Given the description of an element on the screen output the (x, y) to click on. 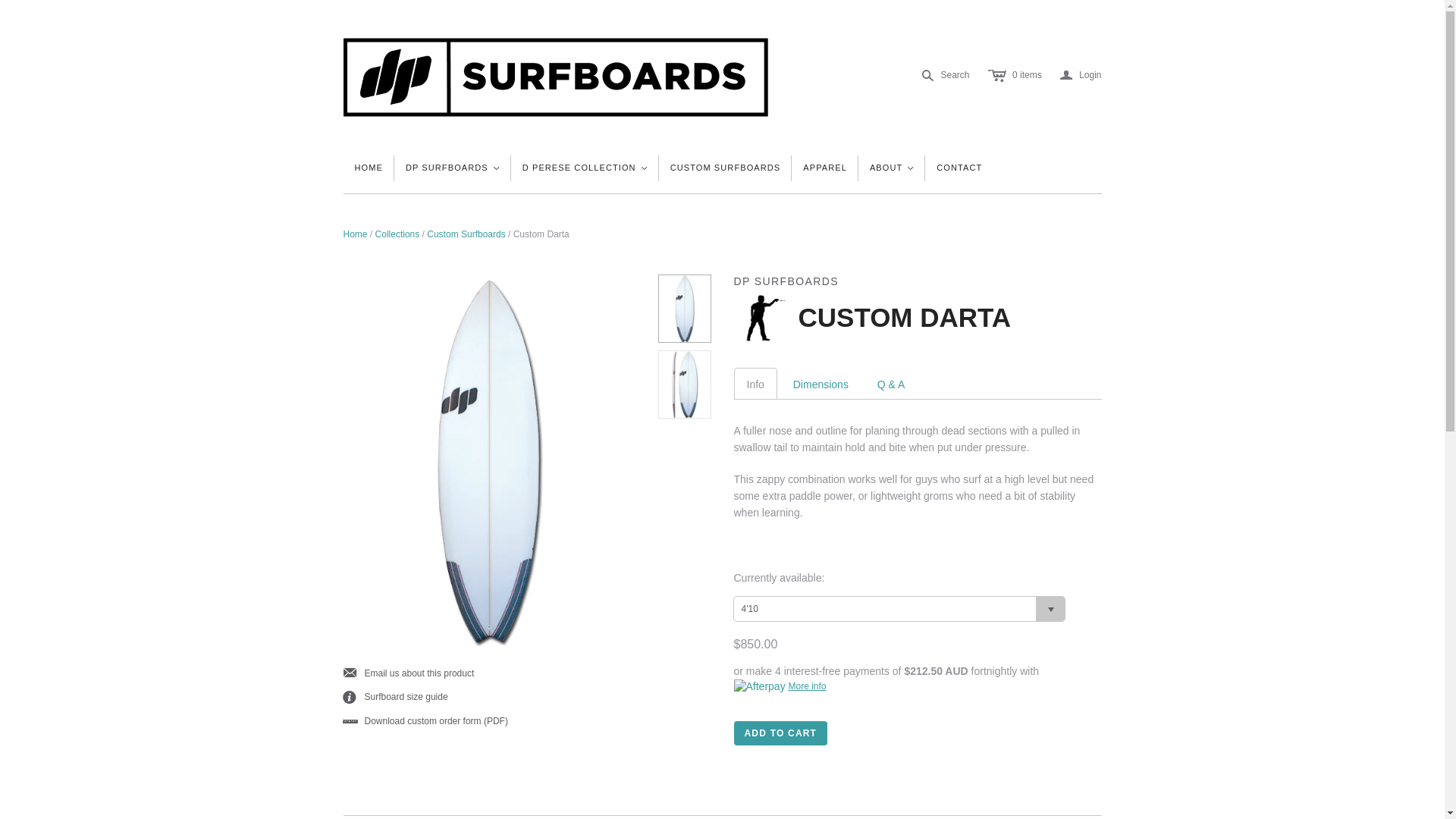
s
Search Element type: text (945, 75)
Q & A Element type: text (891, 382)
D PERESE COLLECTION
< Element type: text (584, 167)
HOME Element type: text (367, 167)
APPAREL Element type: text (824, 167)
Custom Surfboards Element type: text (465, 234)
Add to cart Element type: text (781, 733)
ABOUT
< Element type: text (891, 167)
DP SURFBOARDS
< Element type: text (452, 167)
b
Download custom order form (PDF) Element type: text (424, 721)
CONTACT Element type: text (959, 167)
Dimensions Element type: text (820, 382)
d
Surfboard size guide Element type: text (394, 696)
Info Element type: text (755, 383)
Home Element type: text (354, 234)
Collections Element type: text (397, 234)
More info Element type: text (780, 685)
CUSTOM SURFBOARDS Element type: text (725, 167)
j
Email us about this product Element type: text (407, 673)
a
Login Element type: text (1080, 75)
